Given the description of an element on the screen output the (x, y) to click on. 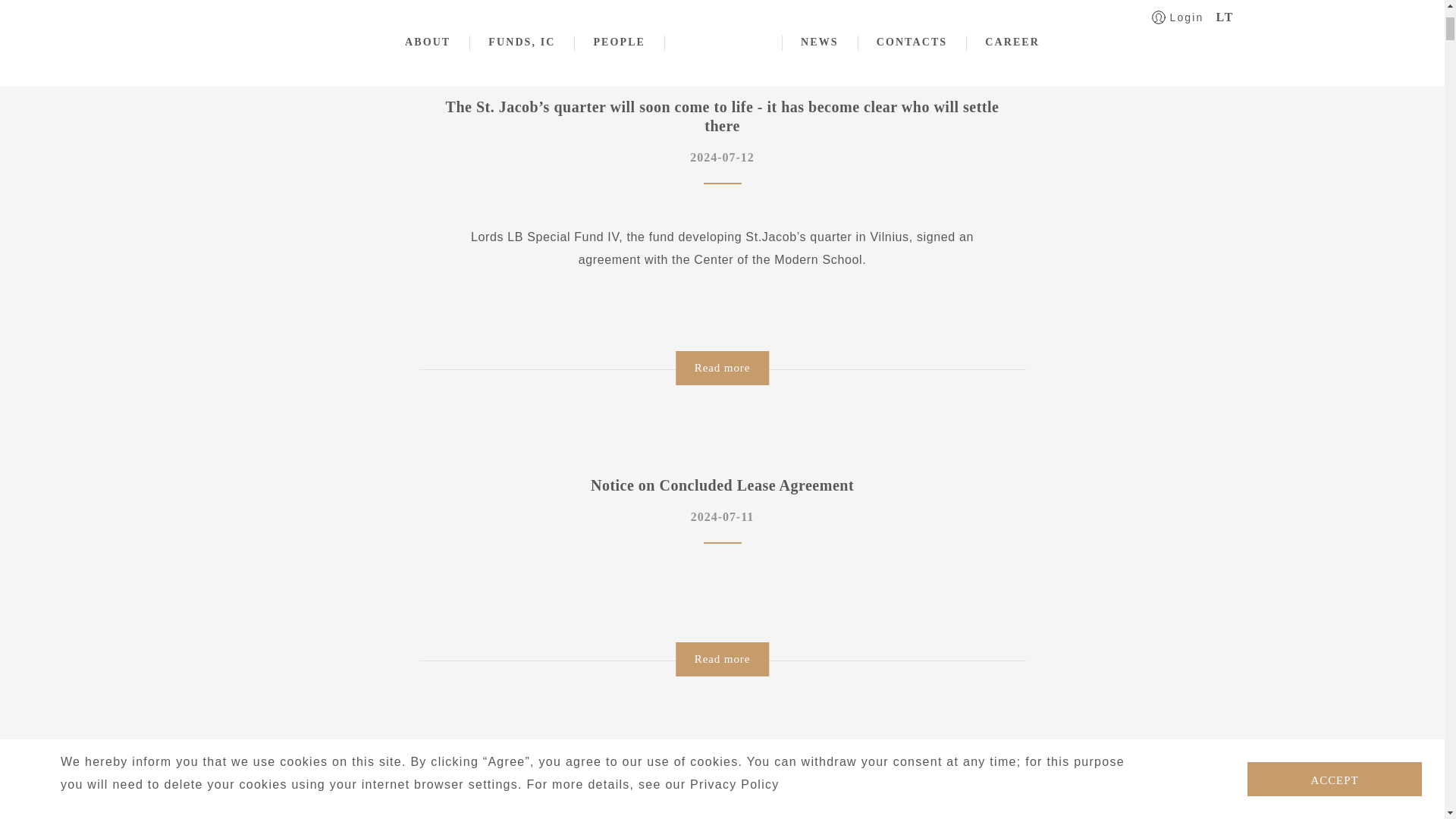
Read more (722, 659)
Read more (722, 3)
Read more (722, 367)
